Given the description of an element on the screen output the (x, y) to click on. 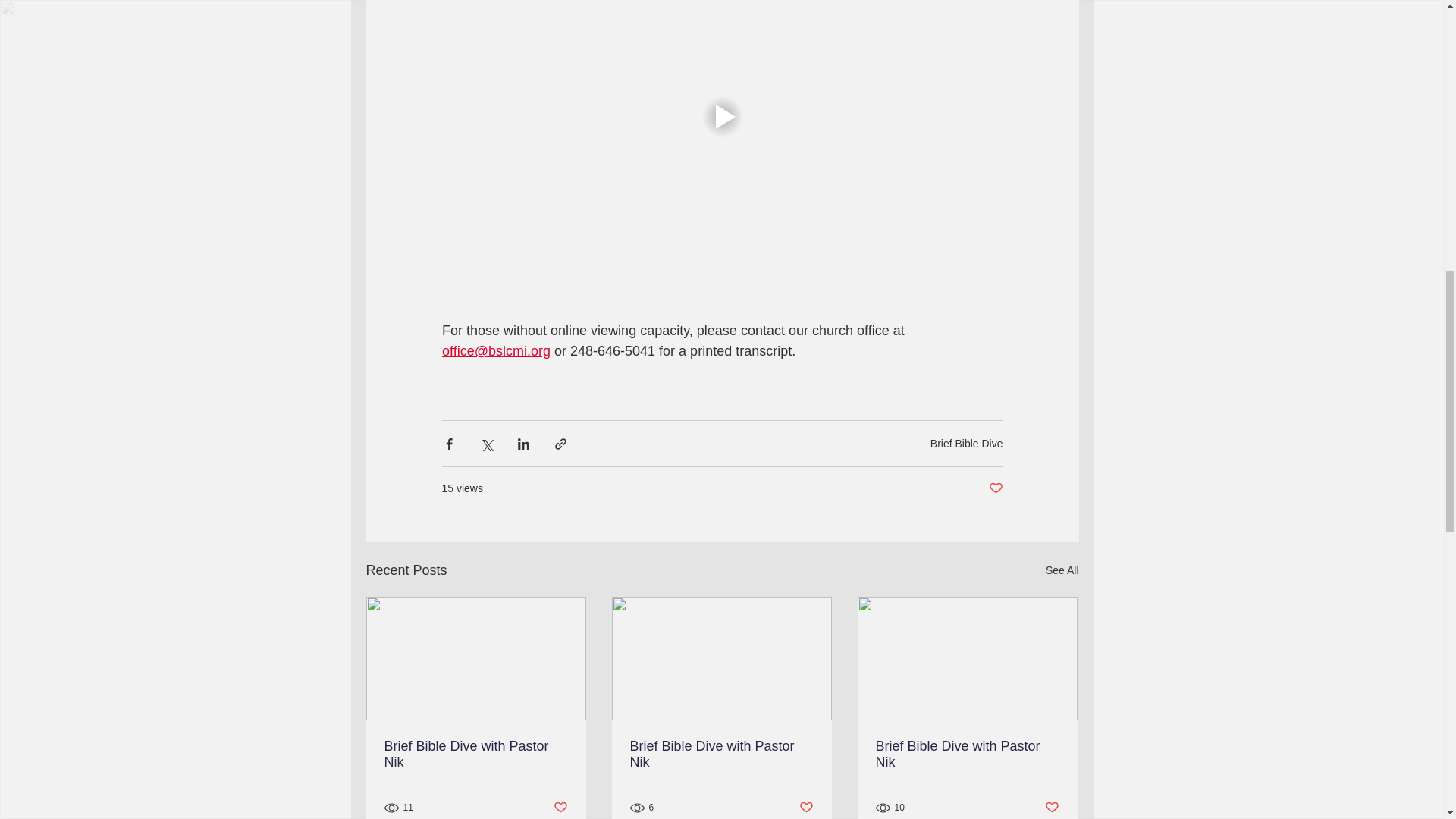
Brief Bible Dive with Pastor Nik (475, 754)
Post not marked as liked (995, 488)
Brief Bible Dive with Pastor Nik (720, 754)
Brief Bible Dive (966, 443)
Post not marked as liked (560, 807)
Brief Bible Dive with Pastor Nik (966, 754)
See All (1061, 570)
Post not marked as liked (806, 807)
Post not marked as liked (1052, 807)
